Given the description of an element on the screen output the (x, y) to click on. 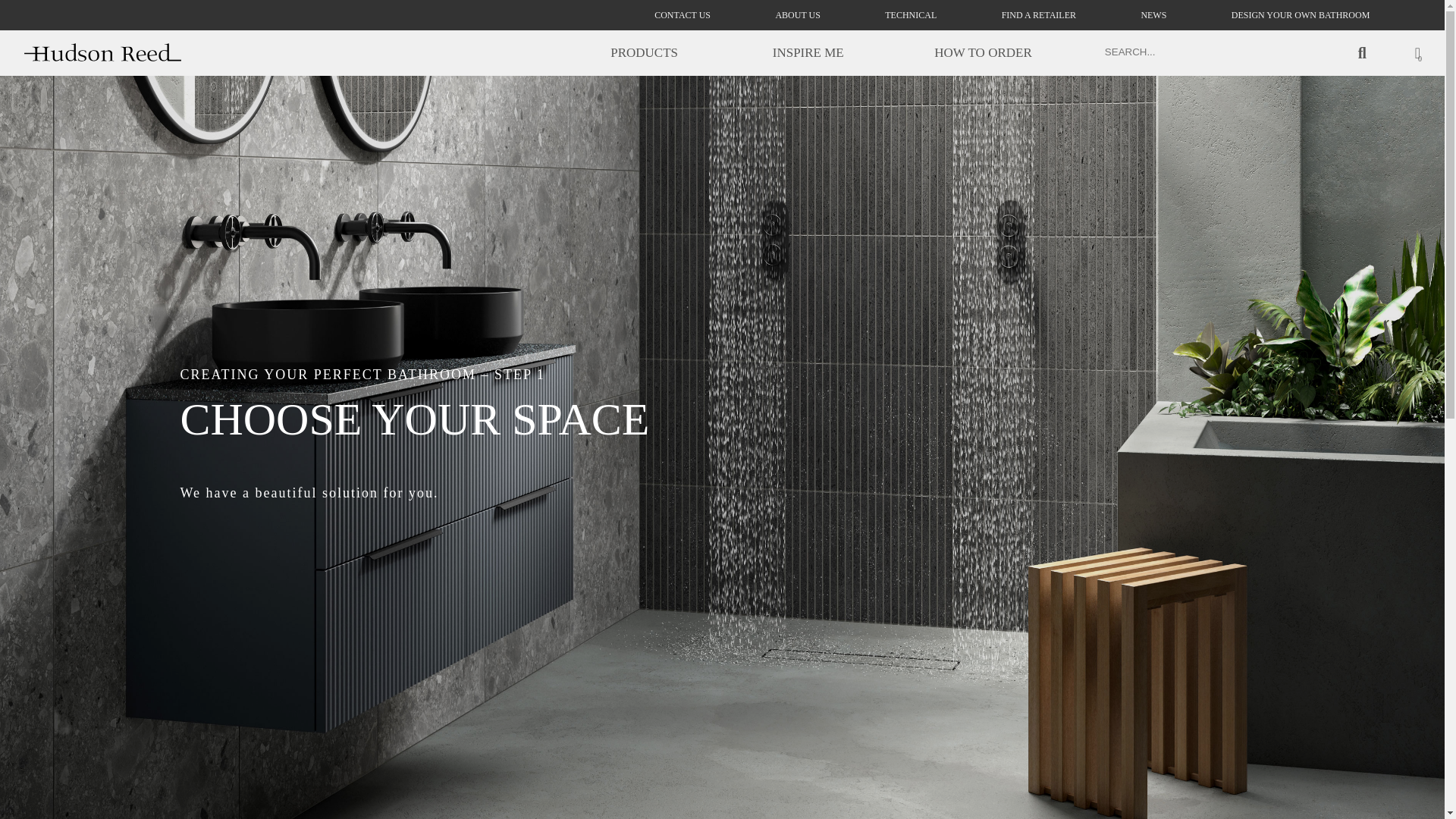
PRODUCTS (644, 52)
DESIGN YOUR OWN BATHROOM (1300, 15)
HOW TO ORDER (982, 52)
INSPIRE ME (808, 52)
CONTACT US (681, 15)
ABOUT US (796, 15)
TECHNICAL (910, 15)
FIND A RETAILER (1038, 15)
